Given the description of an element on the screen output the (x, y) to click on. 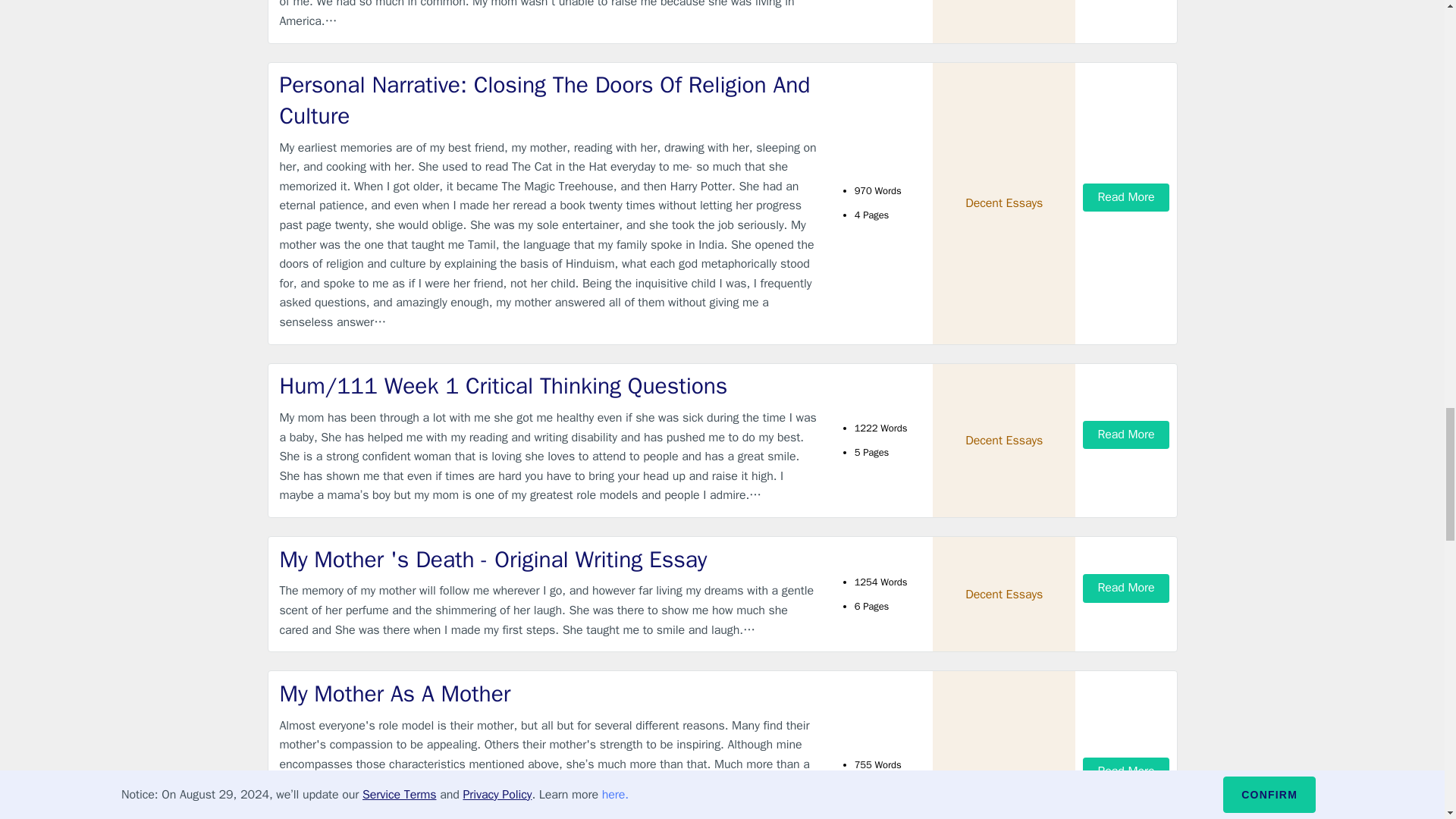
Read More (1126, 197)
Read More (1126, 434)
